Given the description of an element on the screen output the (x, y) to click on. 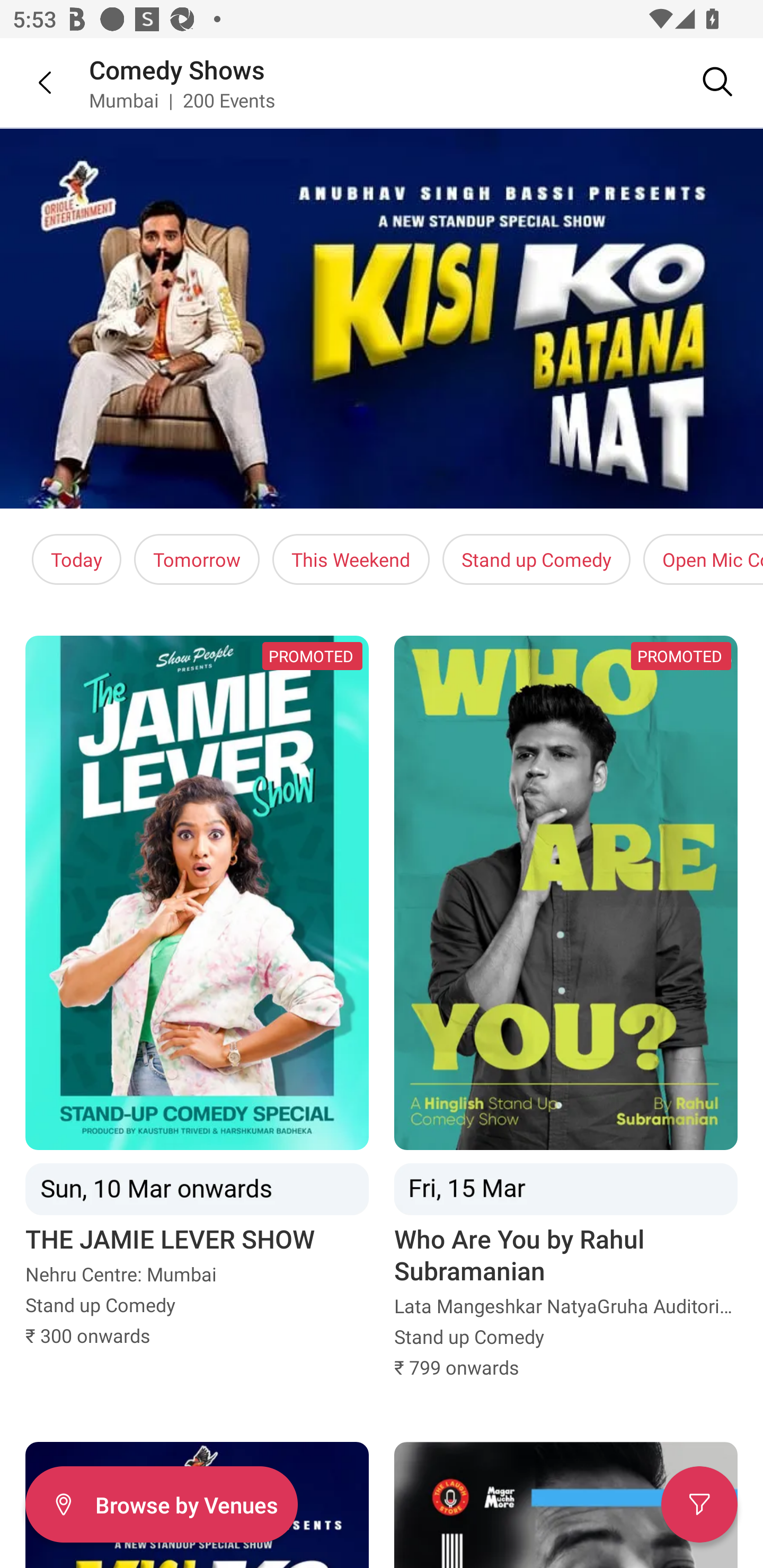
Back (31, 82)
Comedy Shows (176, 68)
Mumbai  |  200 Events (182, 99)
Today (76, 559)
Tomorrow (196, 559)
This Weekend (350, 559)
Stand up Comedy (536, 559)
Filter Browse by Venues (161, 1504)
Filter (699, 1504)
